Given the description of an element on the screen output the (x, y) to click on. 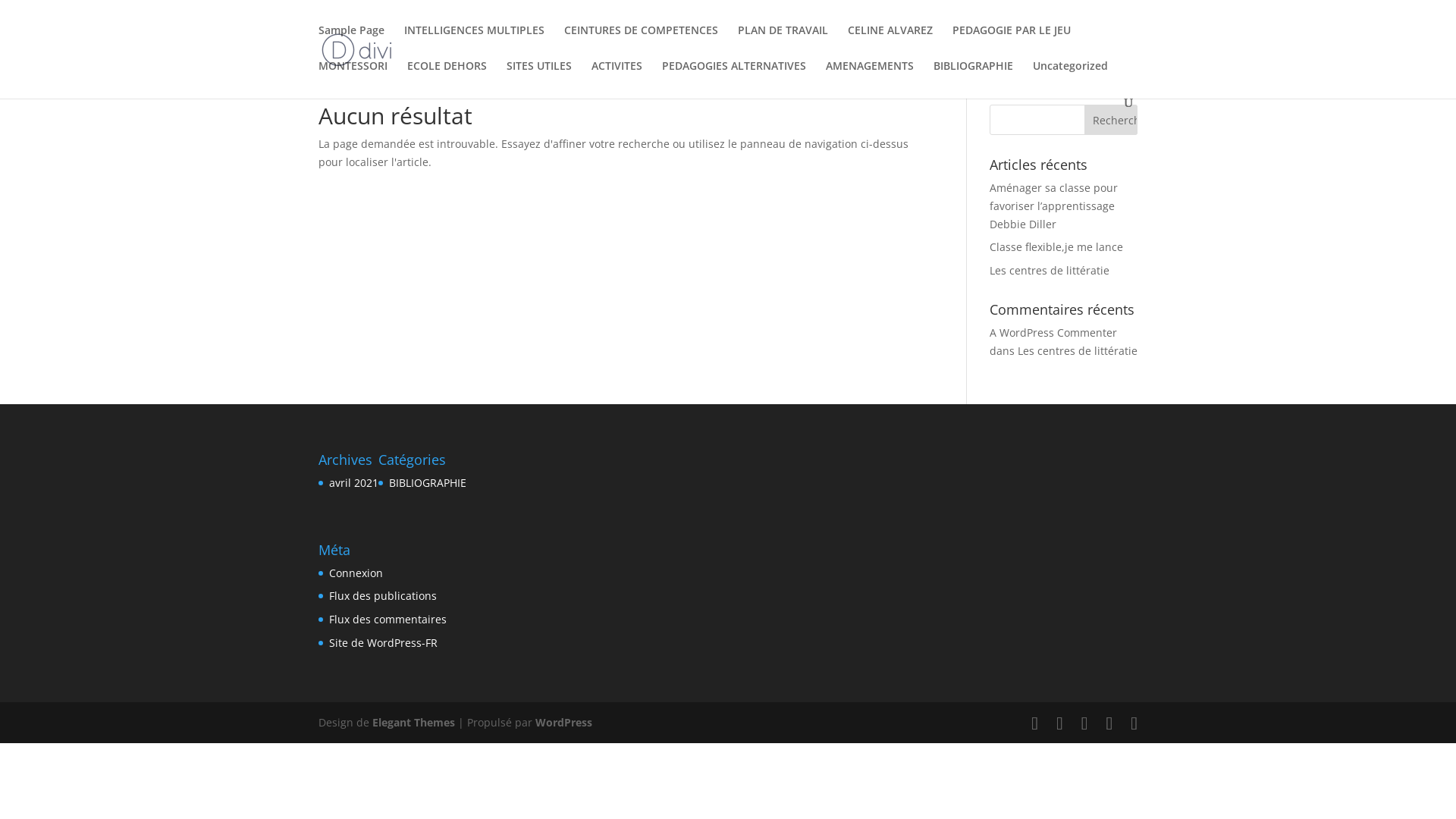
Connexion Element type: text (355, 572)
Sample Page Element type: text (351, 42)
INTELLIGENCES MULTIPLES Element type: text (474, 42)
CELINE ALVAREZ Element type: text (889, 42)
Uncategorized Element type: text (1069, 78)
A WordPress Commenter Element type: text (1053, 332)
PEDAGOGIE PAR LE JEU Element type: text (1011, 42)
SITES UTILES Element type: text (538, 78)
ECOLE DEHORS Element type: text (446, 78)
CEINTURES DE COMPETENCES Element type: text (641, 42)
Site de WordPress-FR Element type: text (383, 642)
MONTESSORI Element type: text (352, 78)
BIBLIOGRAPHIE Element type: text (973, 78)
Flux des commentaires Element type: text (387, 618)
PEDAGOGIES ALTERNATIVES Element type: text (734, 78)
avril 2021 Element type: text (353, 482)
Classe flexible,je me lance Element type: text (1056, 246)
Elegant Themes Element type: text (413, 722)
Flux des publications Element type: text (382, 595)
PLAN DE TRAVAIL Element type: text (782, 42)
WordPress Element type: text (563, 722)
AMENAGEMENTS Element type: text (869, 78)
Rechercher Element type: text (1110, 119)
BIBLIOGRAPHIE Element type: text (427, 482)
ACTIVITES Element type: text (616, 78)
